Given the description of an element on the screen output the (x, y) to click on. 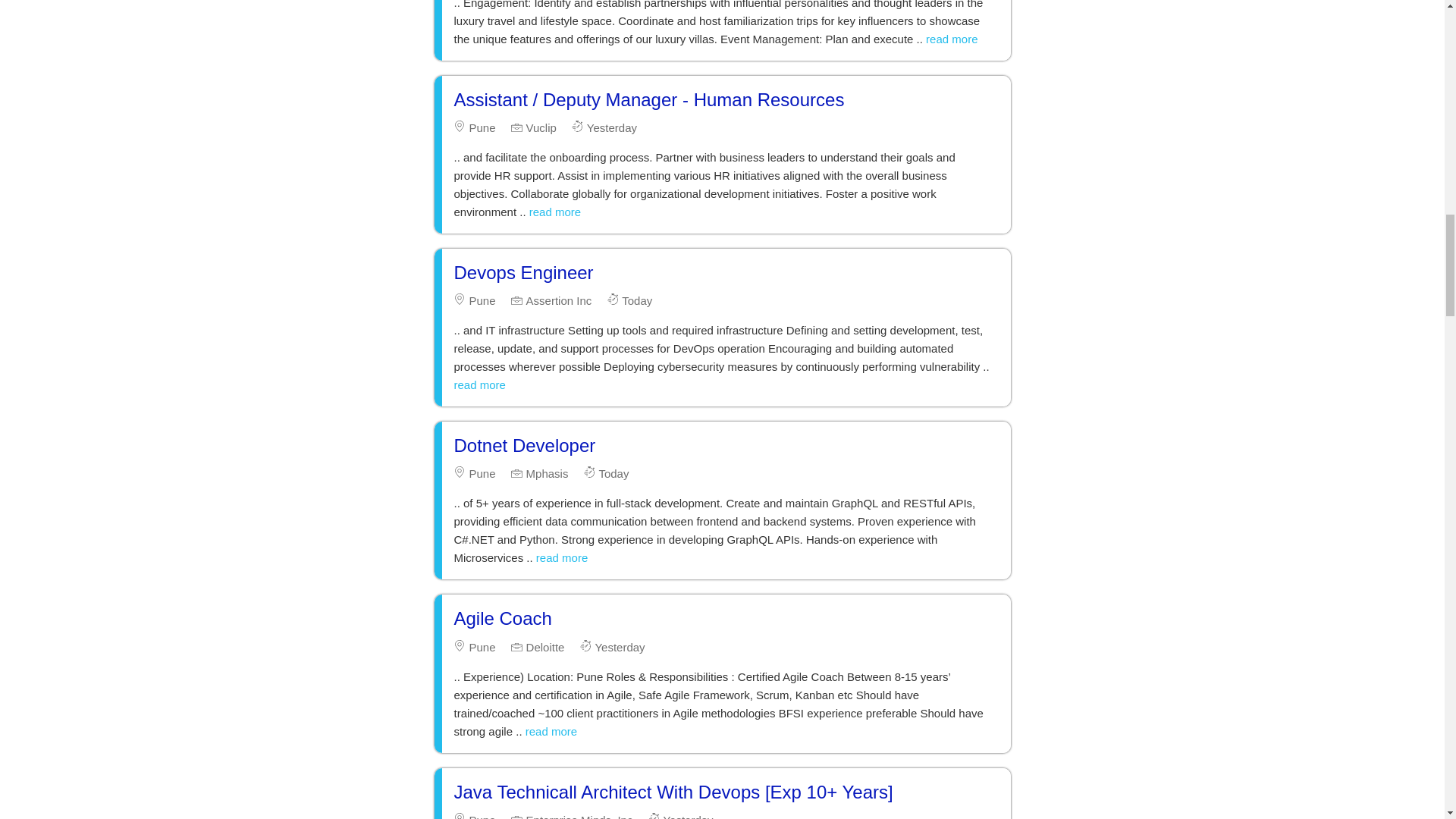
read more (550, 730)
Devops Engineer (522, 272)
Dotnet Developer (523, 444)
read more (561, 557)
read more (951, 38)
read more (478, 384)
read more (554, 211)
Agile Coach (501, 618)
